Given the description of an element on the screen output the (x, y) to click on. 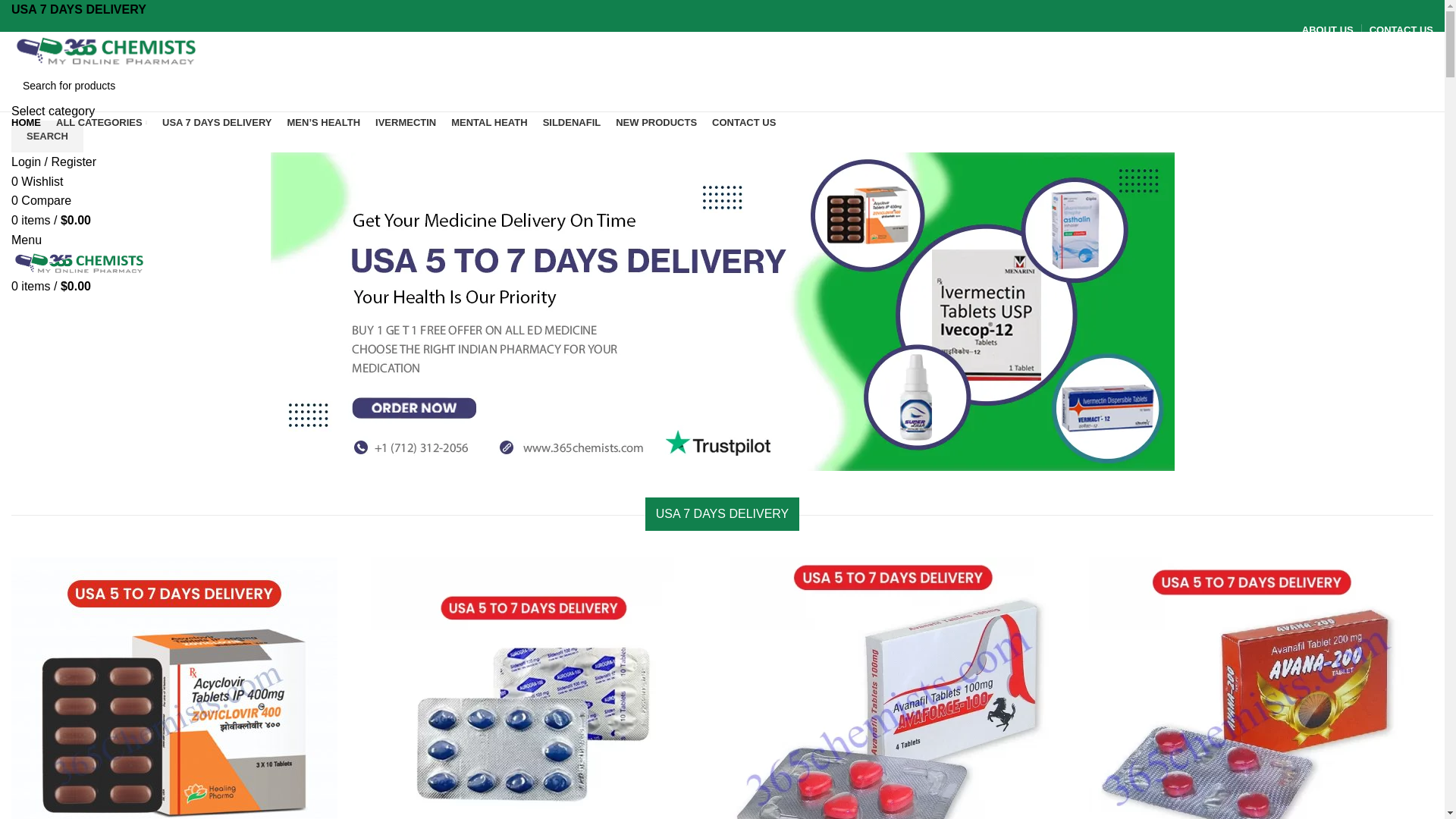
CONTACT US Element type: text (1400, 30)
HOME Element type: text (25, 122)
ABOUT US Element type: text (1327, 30)
0 items / $0.00 Element type: text (51, 285)
CONTACT US Element type: text (743, 122)
0 items / $0.00 Element type: text (51, 219)
0 Wishlist Element type: text (36, 181)
NEW PRODUCTS Element type: text (656, 122)
MENTAL HEATH Element type: text (488, 122)
poster (1) Element type: hover (721, 311)
Select category Element type: text (52, 110)
SILDENAFIL Element type: text (571, 122)
Login / Register Element type: text (53, 161)
ALL CATEGORIES Element type: text (101, 122)
IVERMECTIN Element type: text (405, 122)
Menu Element type: text (26, 239)
SEARCH Element type: text (47, 136)
USA 7 DAYS DELIVERY Element type: text (216, 122)
Search for products Element type: hover (722, 85)
0 Compare Element type: text (41, 200)
